Given the description of an element on the screen output the (x, y) to click on. 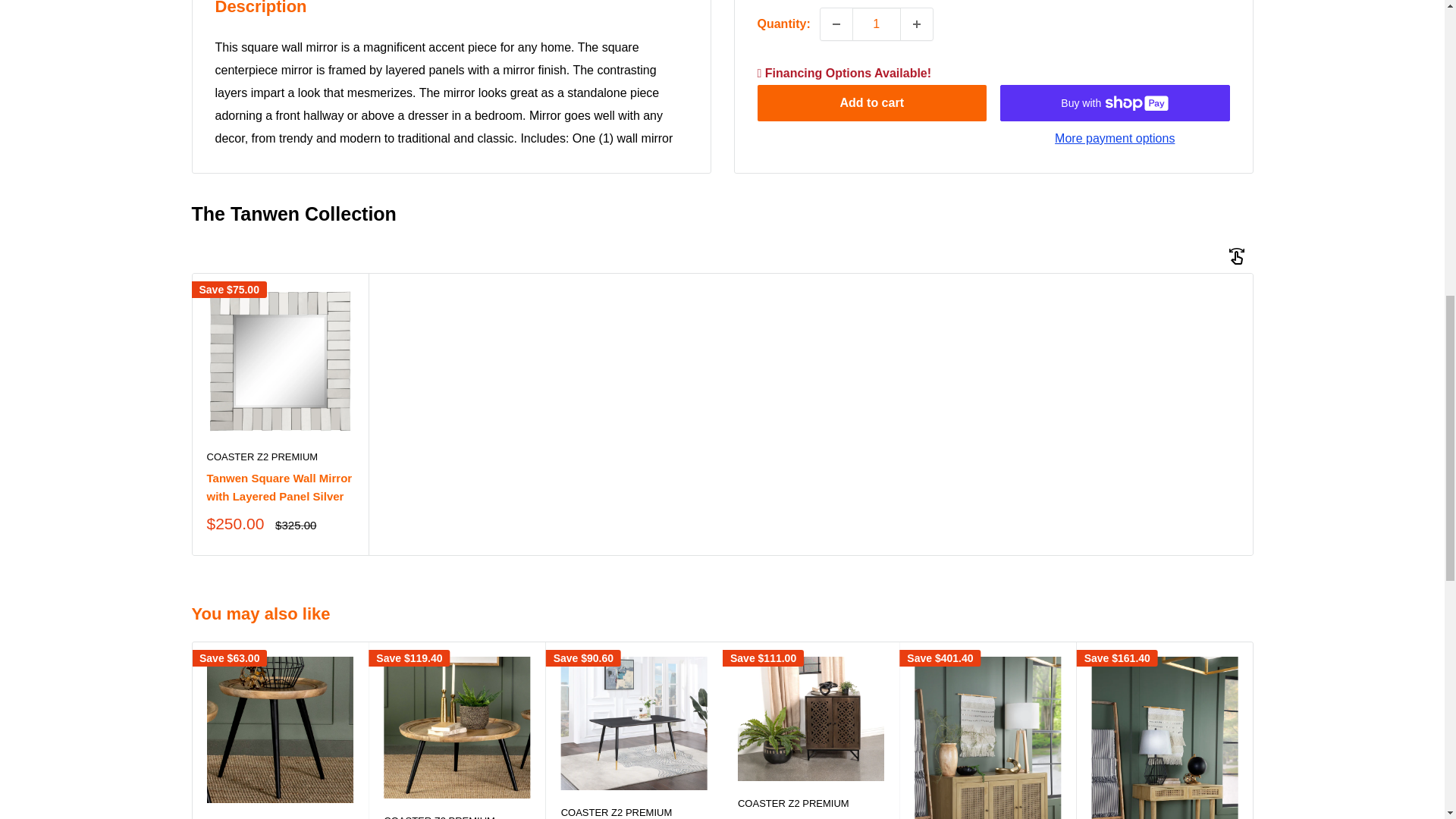
Decrease quantity by 1 (836, 2)
Increase quantity by 1 (917, 2)
1 (876, 2)
